Given the description of an element on the screen output the (x, y) to click on. 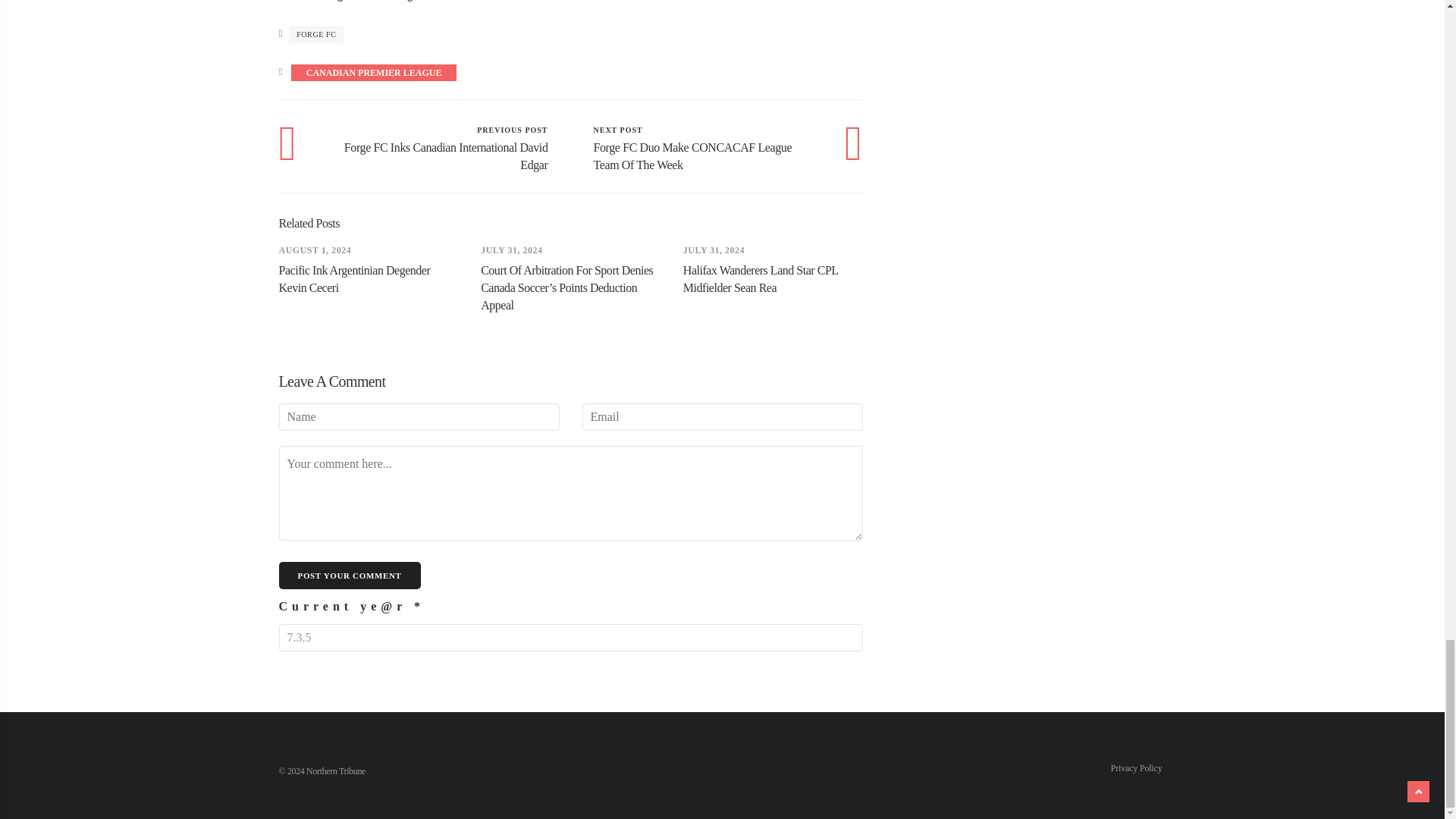
7.3.5 (571, 637)
